Given the description of an element on the screen output the (x, y) to click on. 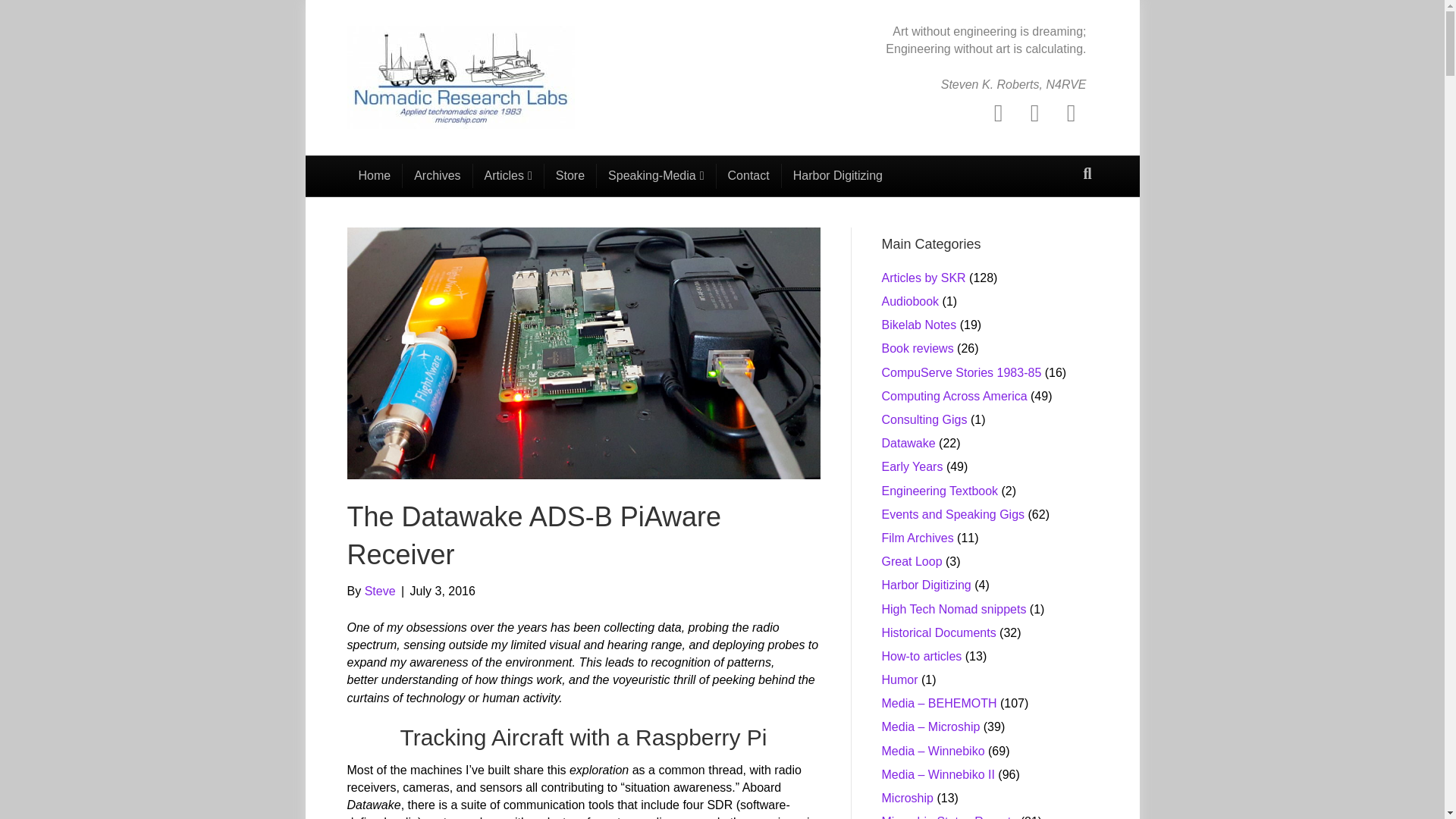
Store (570, 175)
Home (375, 175)
Youtube (1070, 112)
Articles (508, 176)
Facebook (997, 112)
Twitter (1034, 112)
Archives (437, 175)
Speaking-Media (656, 176)
